Given the description of an element on the screen output the (x, y) to click on. 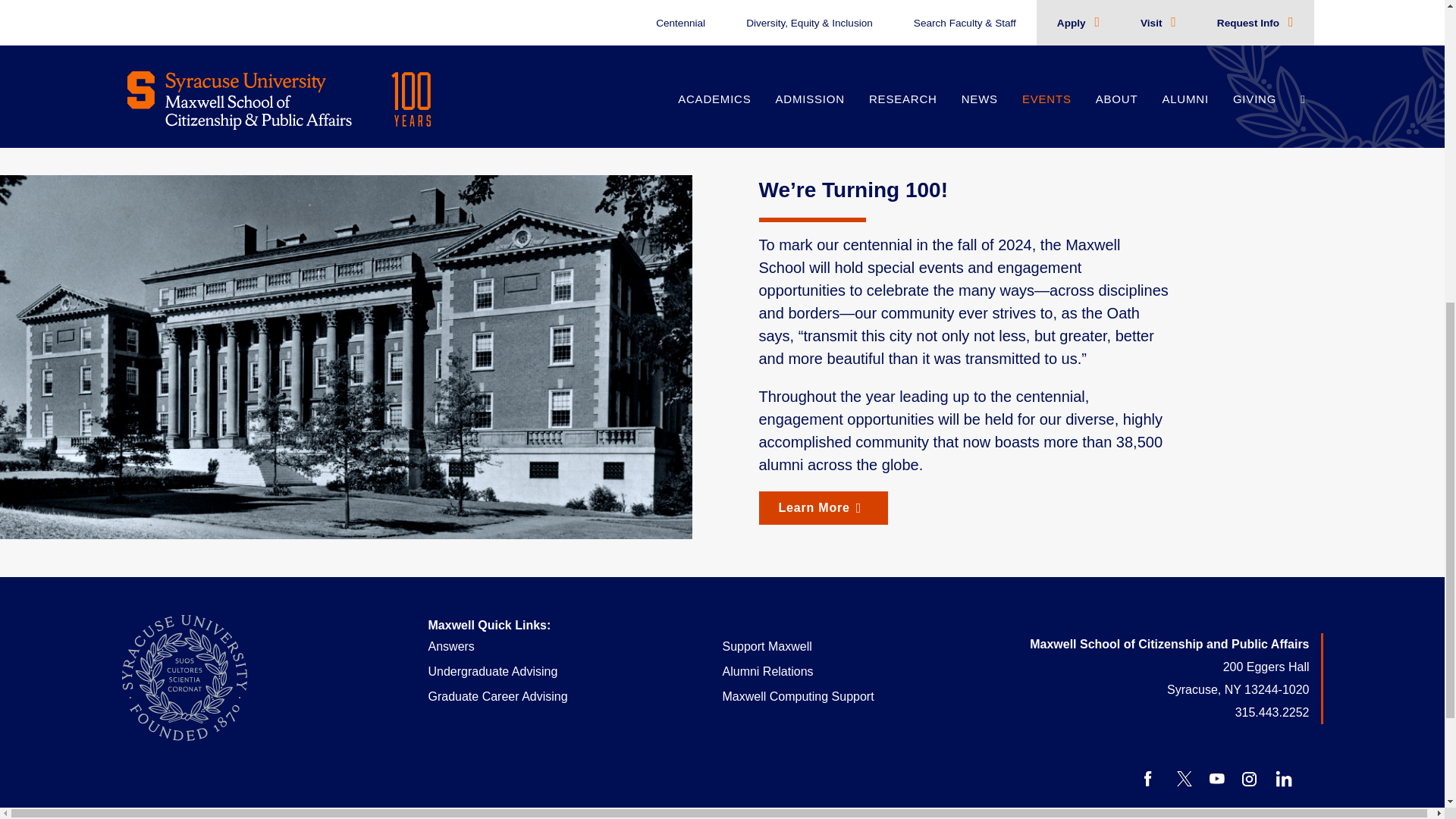
linkedin (1283, 778)
su-seal (183, 678)
youtube (1216, 778)
